Given the description of an element on the screen output the (x, y) to click on. 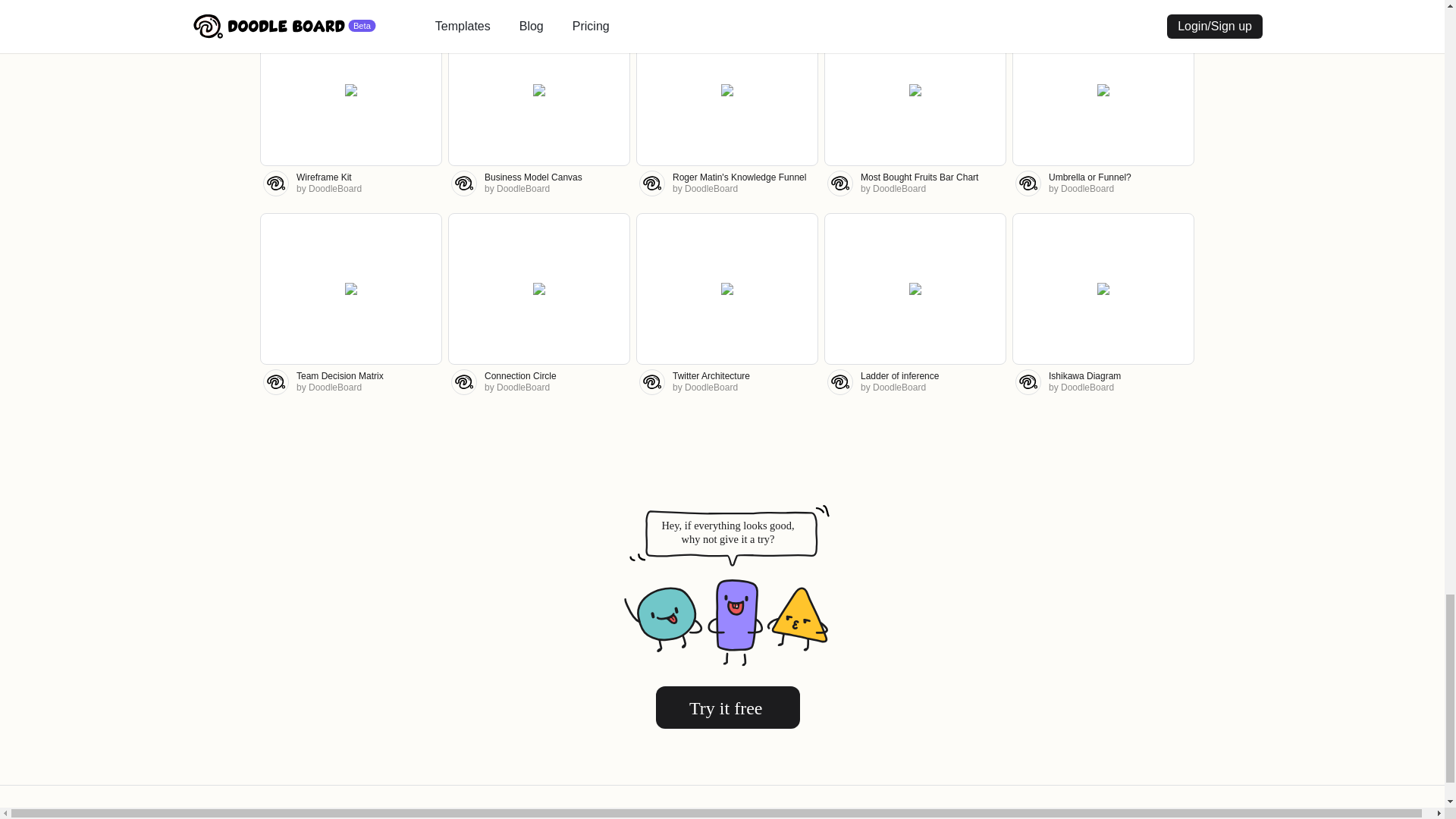
Ishikawa Diagram (1084, 376)
Connection Circle (520, 376)
Business Model Canvas (533, 176)
Twitter Architecture (710, 376)
Roger Matin's Knowledge Funnel (739, 176)
Team Decision Matrix (340, 376)
Ladder of inference (899, 376)
Most Bought Fruits Bar Chart (919, 176)
Umbrella or Funnel? (1089, 176)
Wireframe Kit (324, 176)
